Given the description of an element on the screen output the (x, y) to click on. 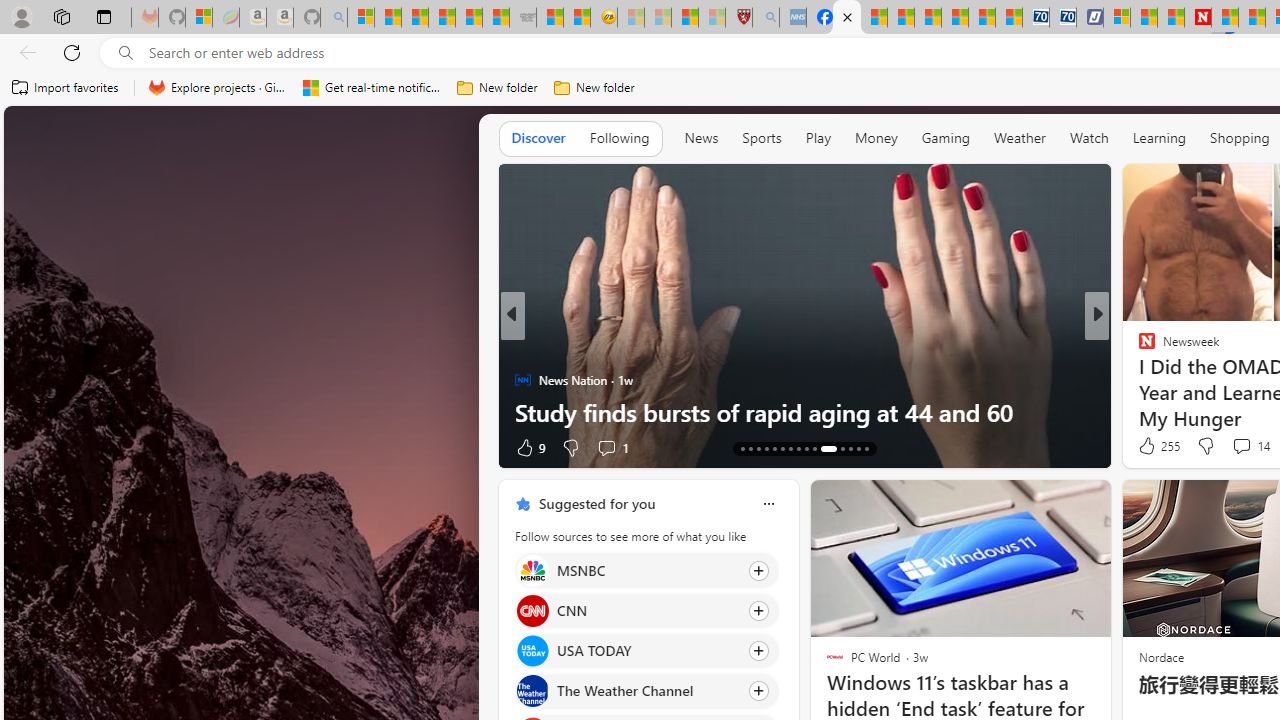
5 Like (1145, 447)
Click to follow source CNN (646, 610)
USA TODAY (532, 651)
Learning (1159, 138)
View comments 14 Comment (1249, 446)
AutomationID: tab-77 (836, 448)
